Given the description of an element on the screen output the (x, y) to click on. 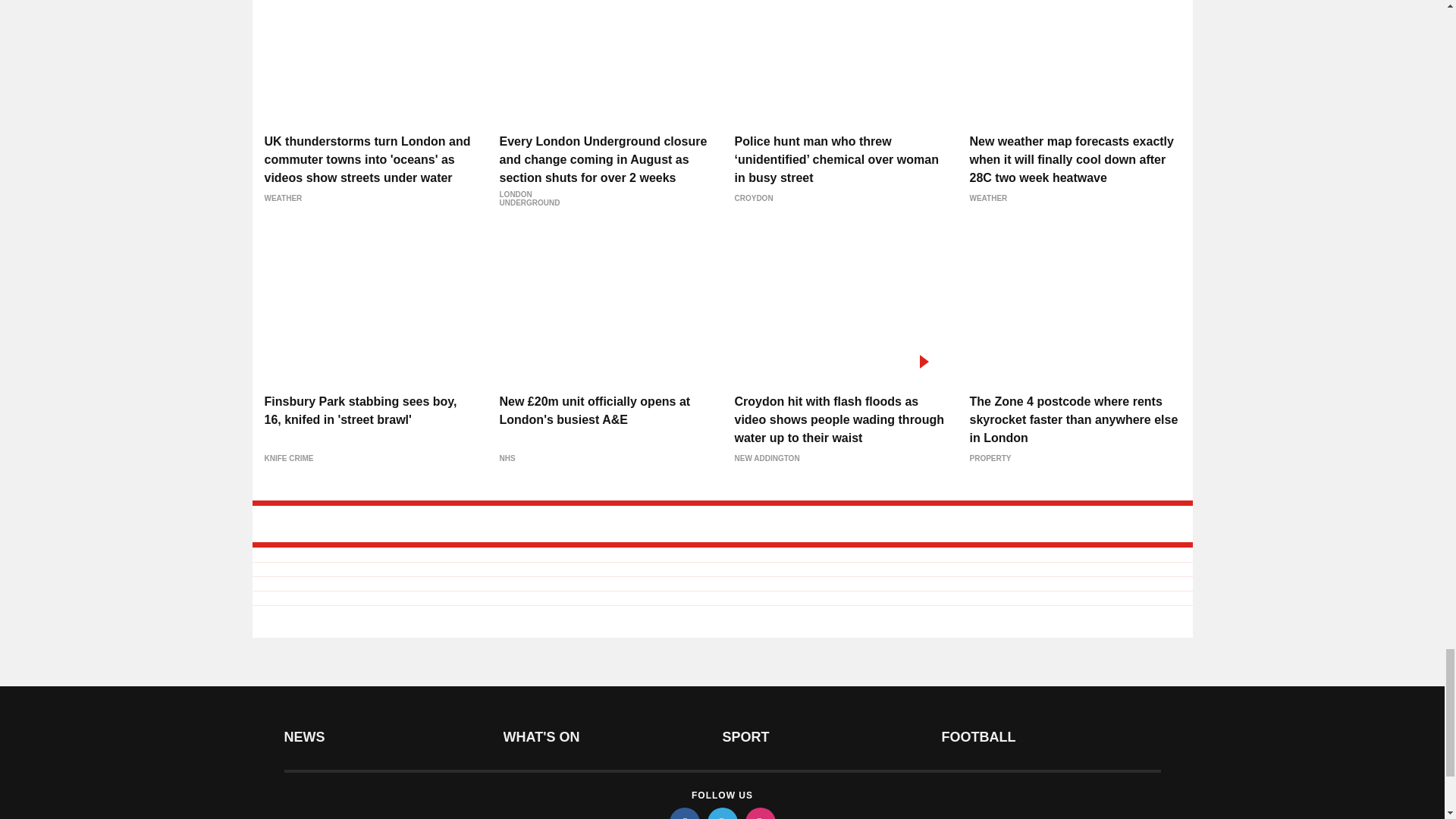
instagram (759, 813)
facebook (683, 813)
twitter (721, 813)
